Given the description of an element on the screen output the (x, y) to click on. 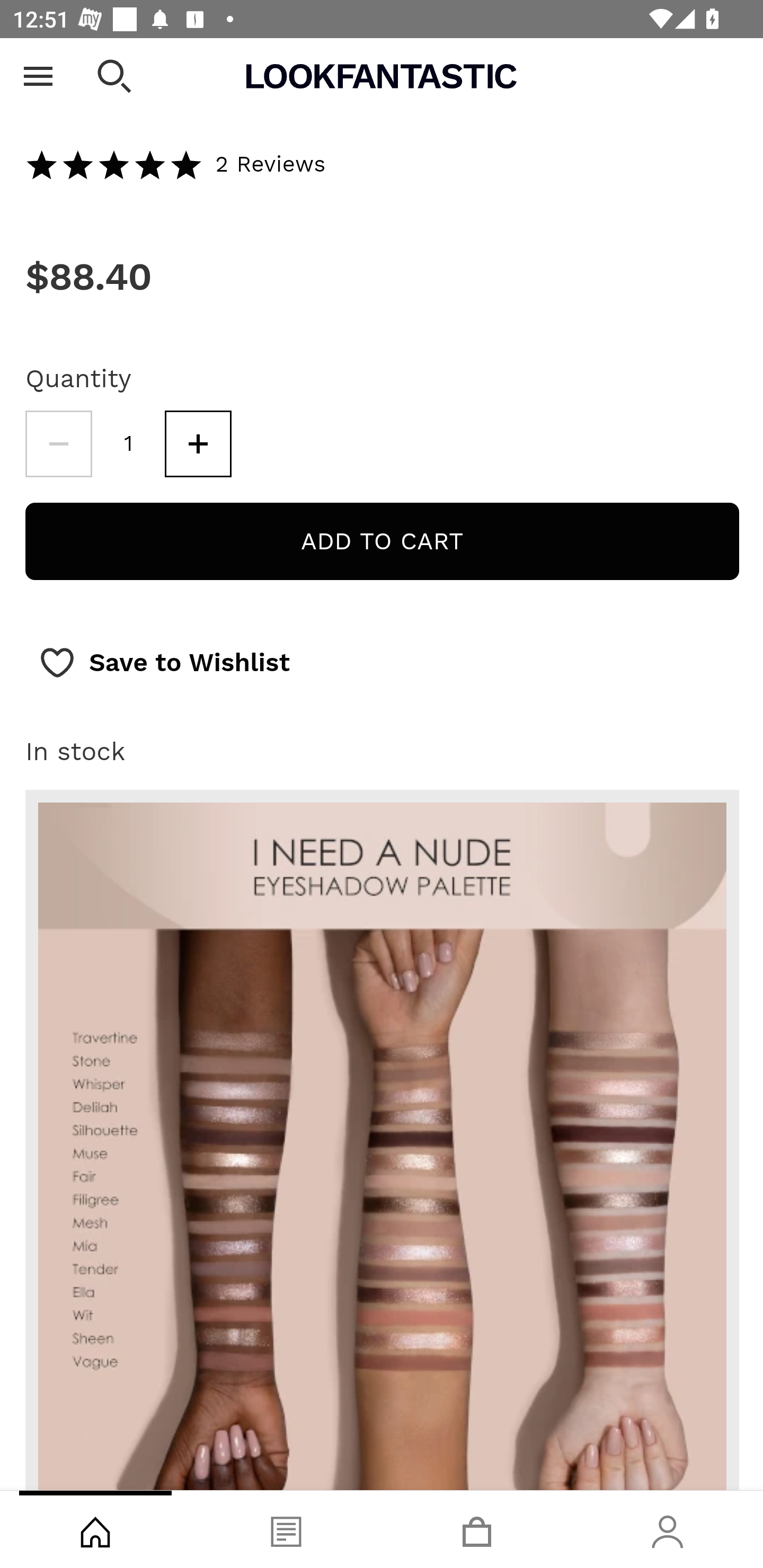
Decrease quantity (58, 443)
1, Quantity (128, 443)
Increase quantity (197, 443)
Add to cart (382, 541)
Save to Wishlist (164, 663)
Shop, tab, 1 of 4 (95, 1529)
Blog, tab, 2 of 4 (285, 1529)
Basket, tab, 3 of 4 (476, 1529)
Account, tab, 4 of 4 (667, 1529)
